Given the description of an element on the screen output the (x, y) to click on. 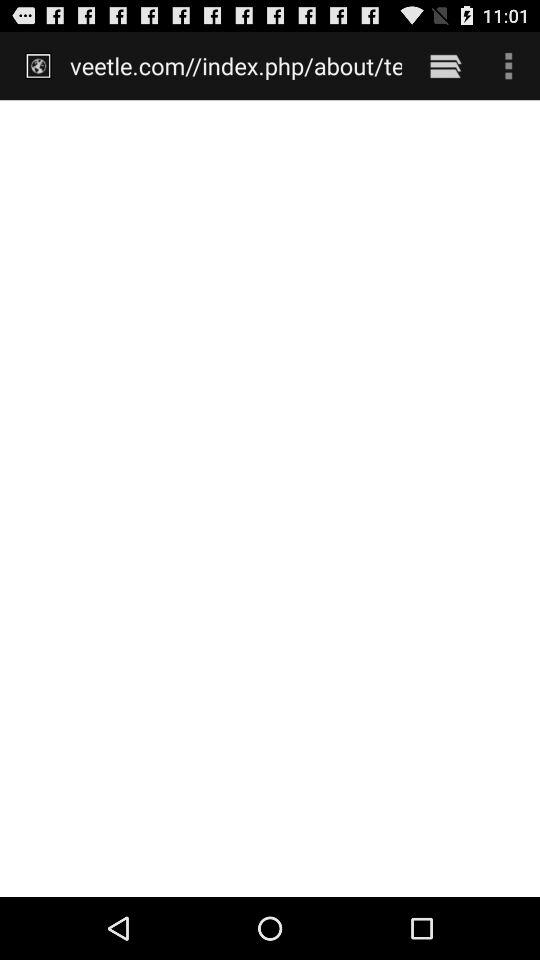
tap icon below the veetle com index item (270, 497)
